Given the description of an element on the screen output the (x, y) to click on. 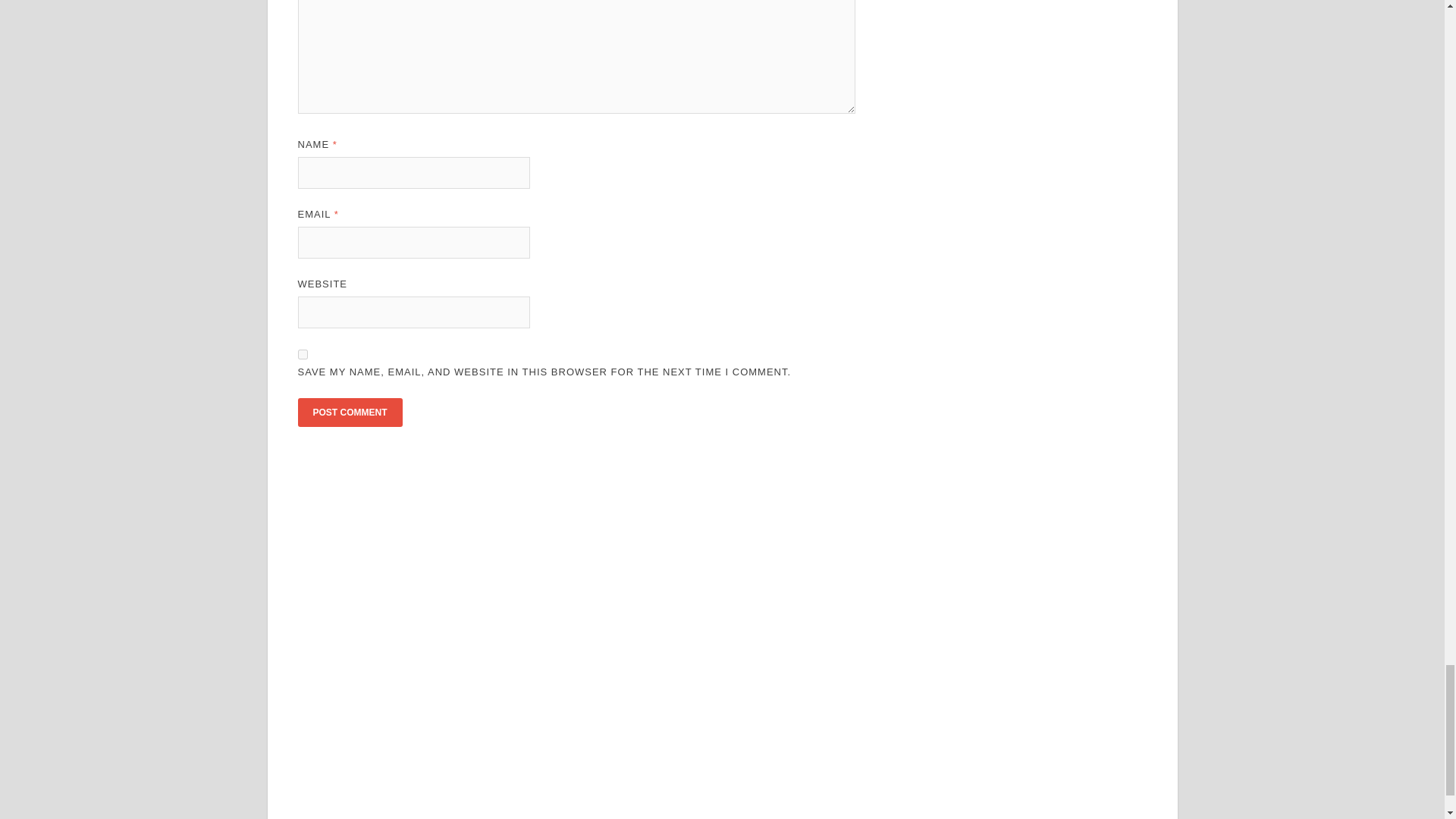
Post Comment (349, 412)
yes (302, 354)
